Given the description of an element on the screen output the (x, y) to click on. 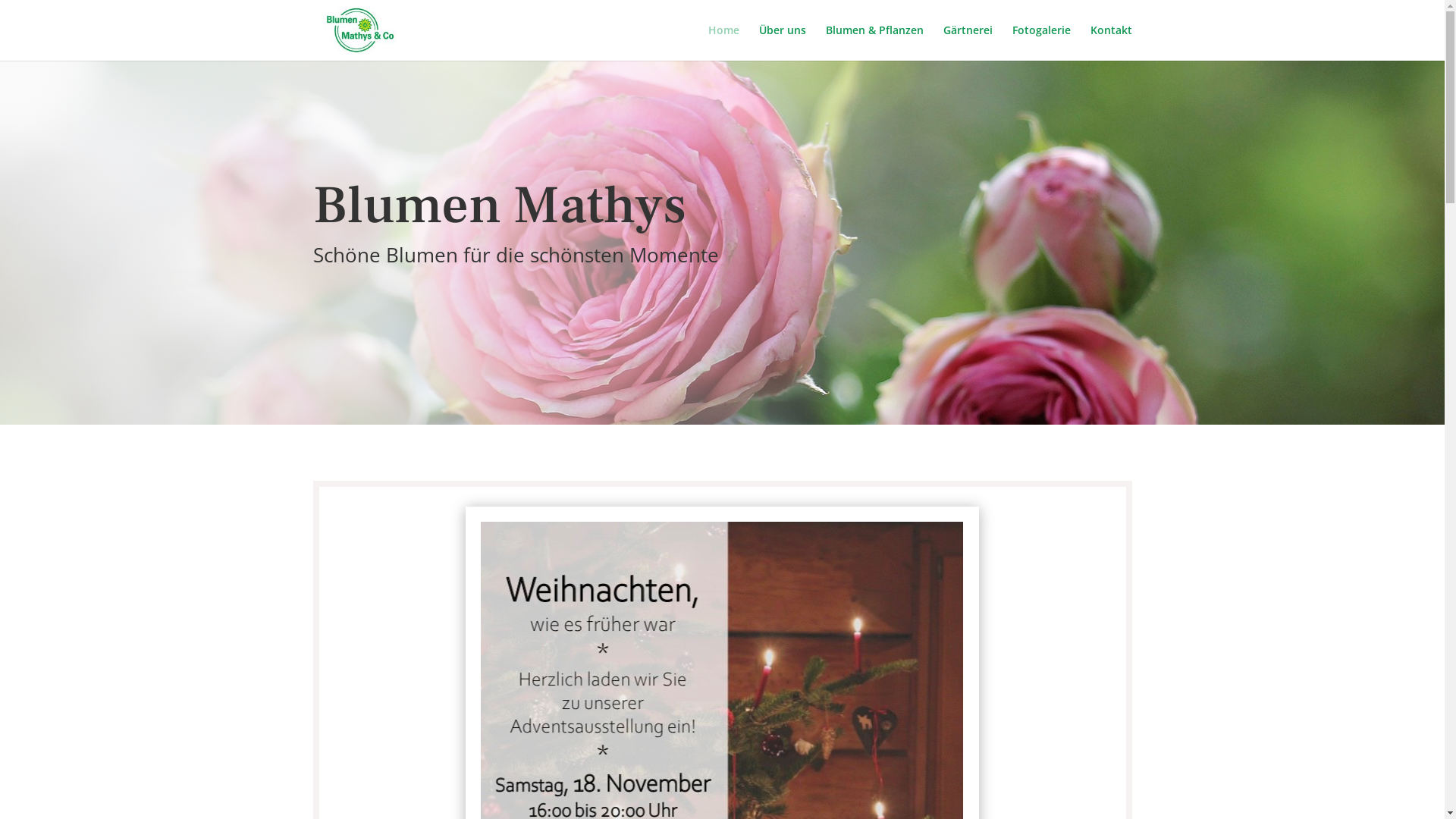
Home Element type: text (723, 42)
Fotogalerie Element type: text (1040, 42)
Blumen & Pflanzen Element type: text (873, 42)
Kontakt Element type: text (1111, 42)
